Given the description of an element on the screen output the (x, y) to click on. 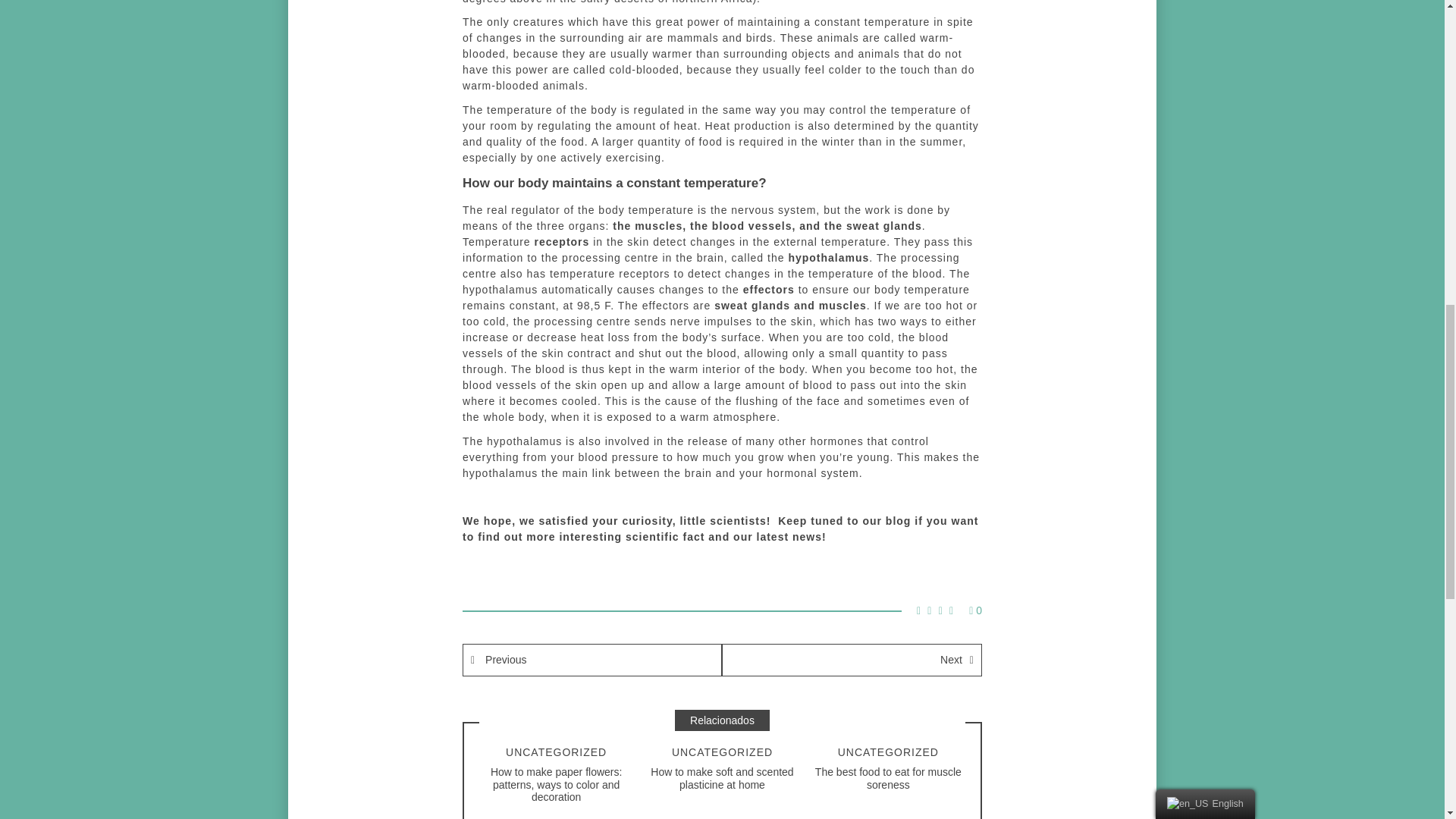
UNCATEGORIZED (888, 752)
Previous (592, 659)
How to make soft and scented plasticine at home (721, 778)
Permalink to How to make soft and scented plasticine at home (721, 778)
The best food to eat for muscle soreness (887, 778)
0 (975, 610)
Permalink to The best food to eat for muscle soreness (887, 778)
UNCATEGORIZED (556, 752)
Next (851, 659)
UNCATEGORIZED (722, 752)
